Given the description of an element on the screen output the (x, y) to click on. 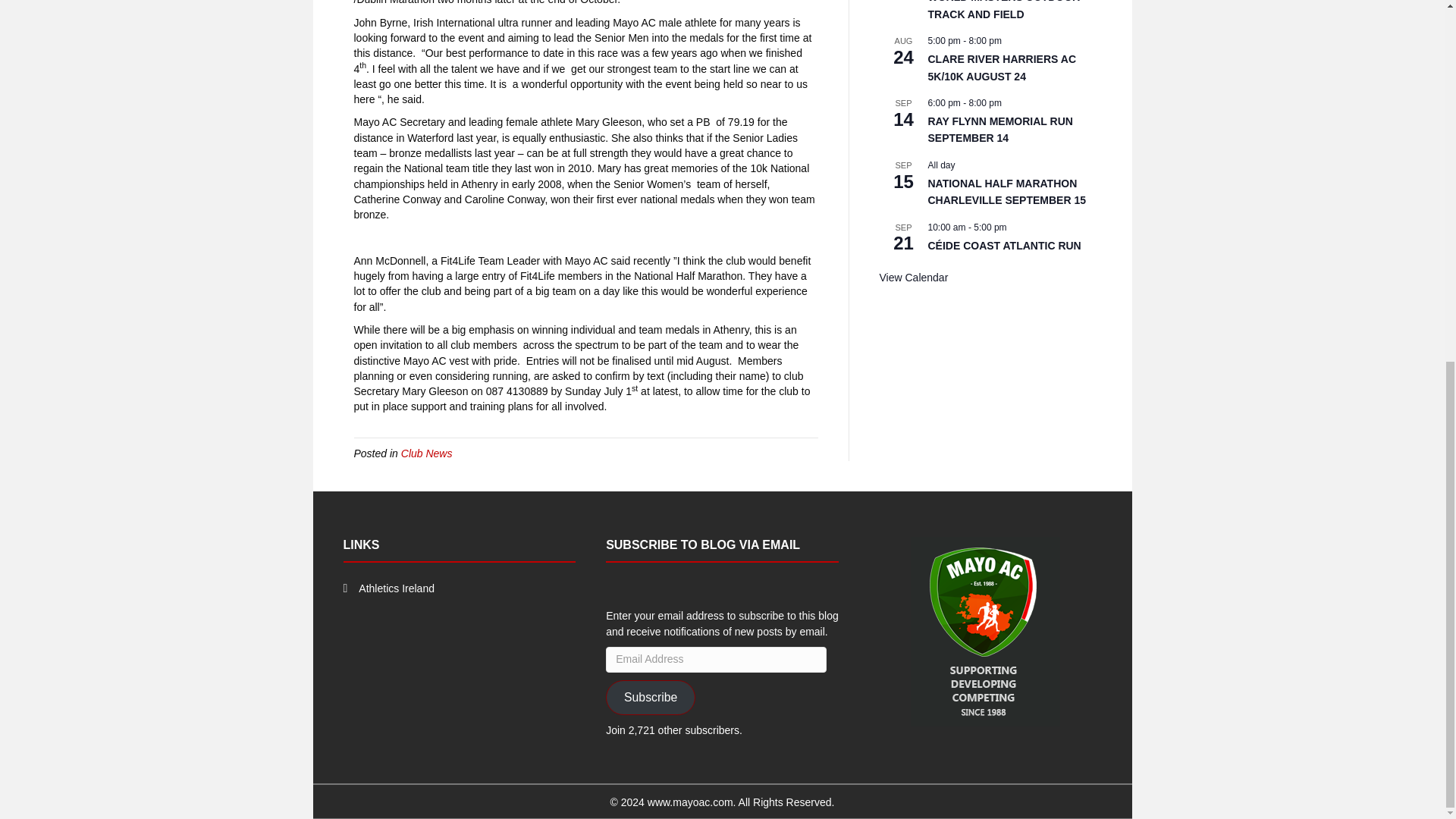
World Masters Outdoor Track and Field (1004, 10)
View more events. (914, 277)
View Calendar (914, 277)
Ray Flynn Memorial run September 14 (1000, 130)
Club News (426, 453)
National Half Marathon Charleville September 15 (1007, 192)
NATIONAL HALF MARATHON CHARLEVILLE SEPTEMBER 15 (1007, 192)
WORLD MASTERS OUTDOOR TRACK AND FIELD (1004, 10)
RAY FLYNN MEMORIAL RUN SEPTEMBER 14 (1000, 130)
Athletics Ireland (395, 588)
